Given the description of an element on the screen output the (x, y) to click on. 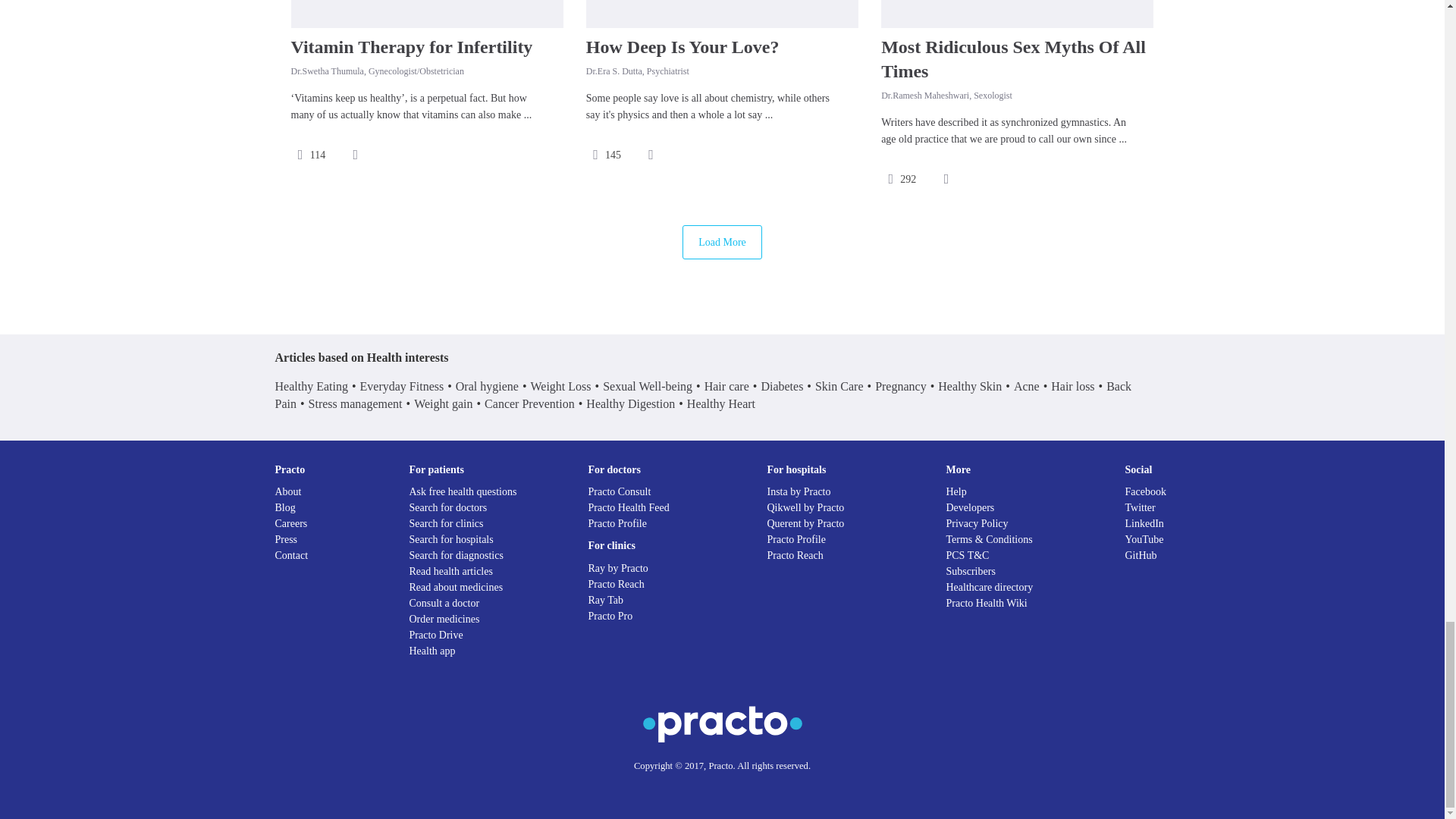
Blog (285, 507)
Ask free health questions (462, 491)
Read about medicines (456, 586)
Press (286, 539)
Practo Drive (436, 634)
Search for clinics (446, 523)
Contact (291, 555)
Search for hospitals (451, 539)
About (288, 491)
Search for diagnostics (456, 555)
Read Health Articles (451, 571)
Search for doctors (448, 507)
Order medicines (444, 618)
Careers (291, 523)
Consult a doctor (444, 603)
